Given the description of an element on the screen output the (x, y) to click on. 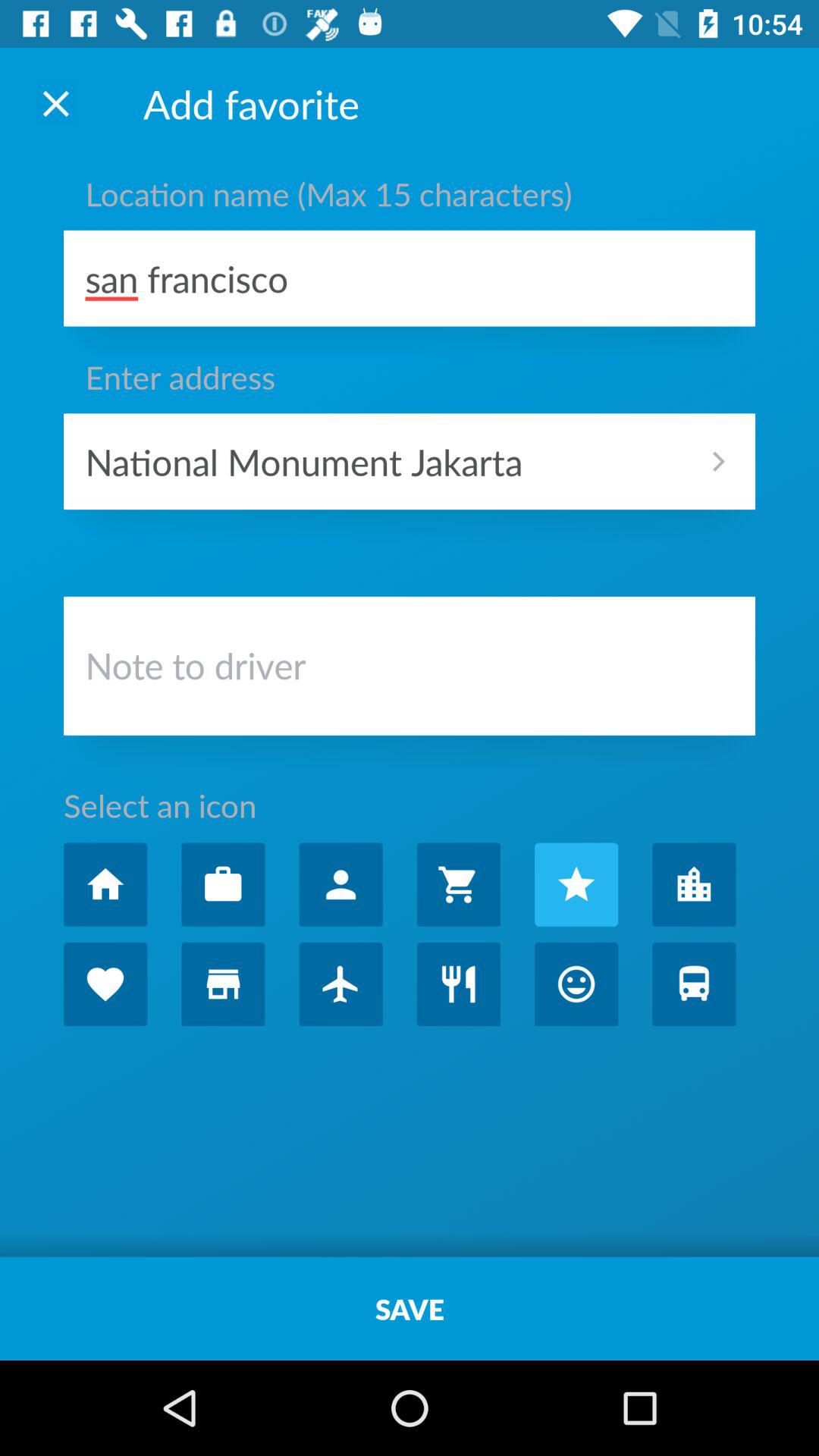
shopping cart (458, 884)
